Given the description of an element on the screen output the (x, y) to click on. 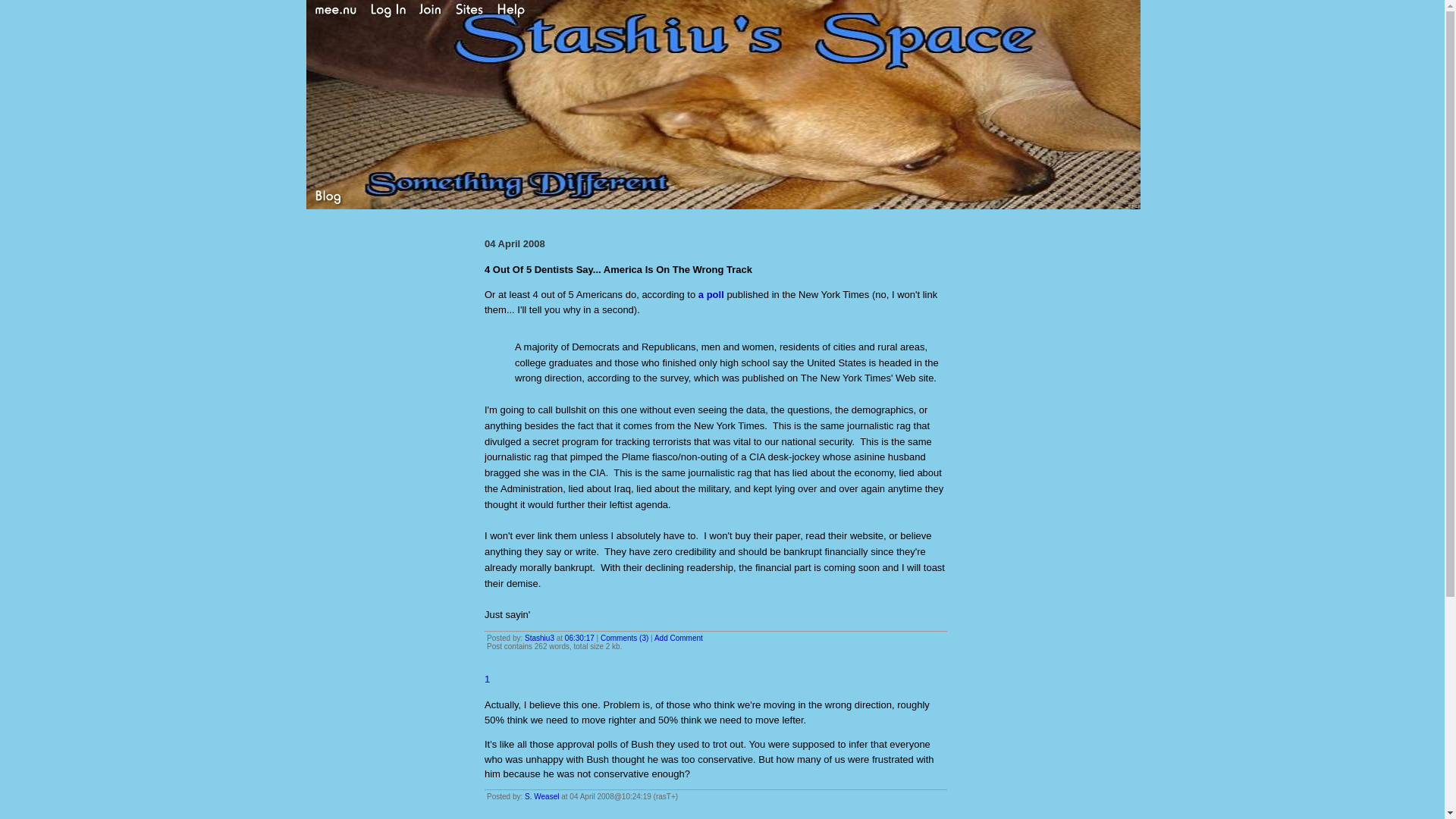
a poll (710, 294)
Add Comment (678, 637)
06:30:17 (579, 637)
Stashiu3 (539, 637)
a poll (710, 294)
S. Weasel (541, 796)
